Given the description of an element on the screen output the (x, y) to click on. 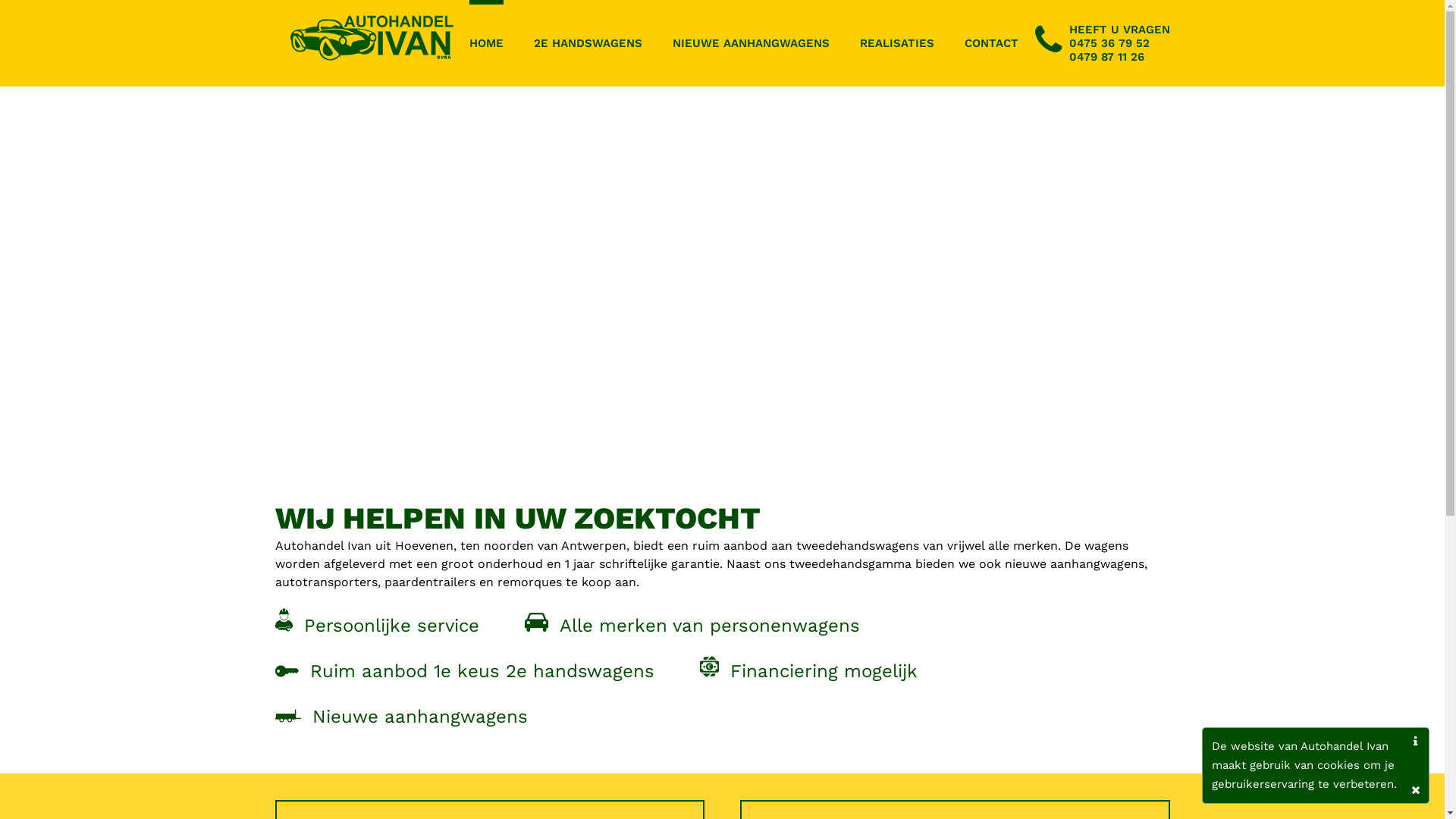
REALISATIES Element type: text (896, 40)
HOME Element type: text (485, 40)
NIEUWE AANHANGWAGENS Element type: text (749, 40)
2E HANDSWAGENS Element type: text (587, 40)
0479 87 11 26 Element type: text (1106, 56)
0475 36 79 52 Element type: text (1109, 43)
CONTACT Element type: text (991, 40)
